Given the description of an element on the screen output the (x, y) to click on. 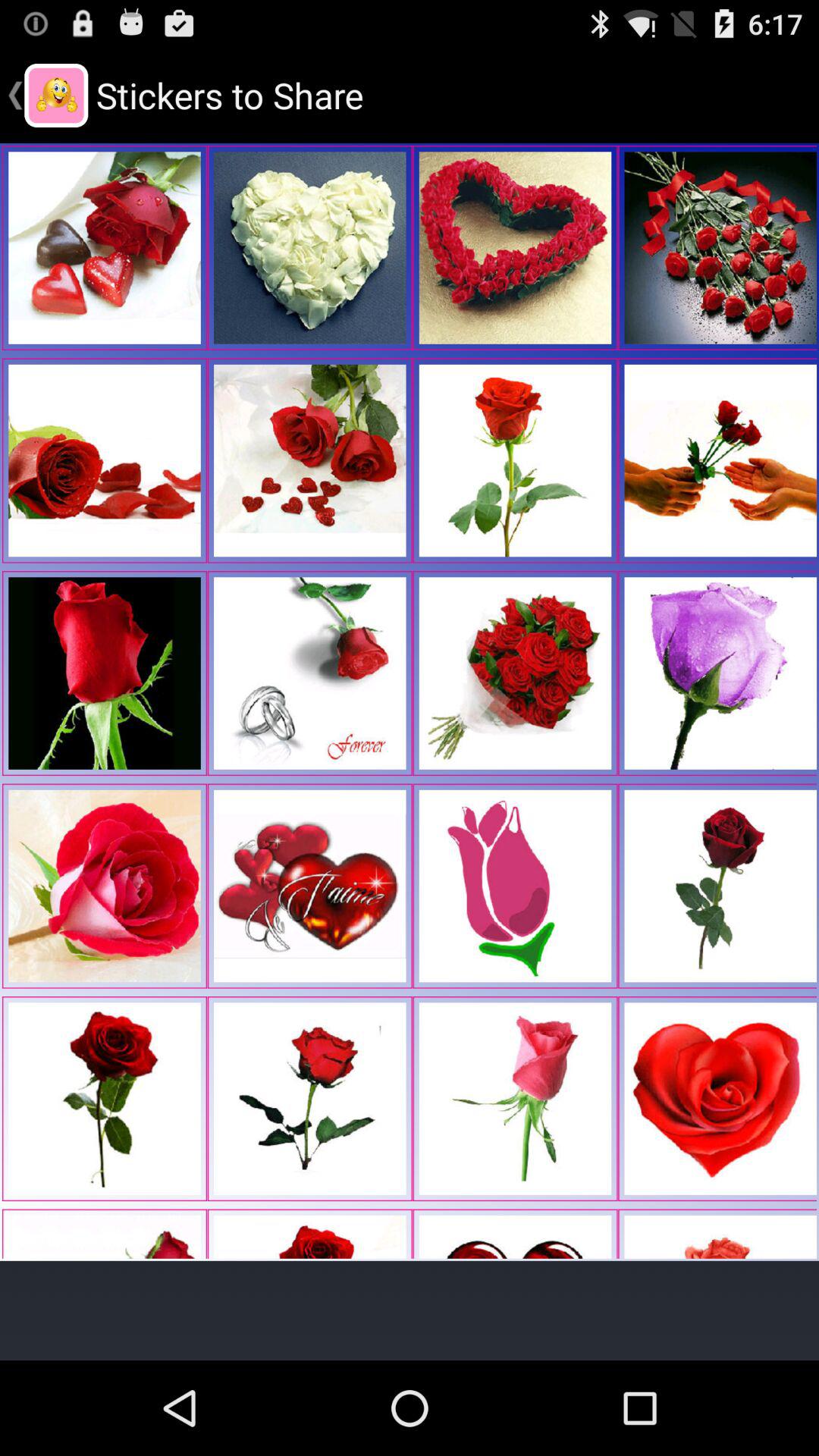
click on the fifth row fourth image (717, 1098)
